Given the description of an element on the screen output the (x, y) to click on. 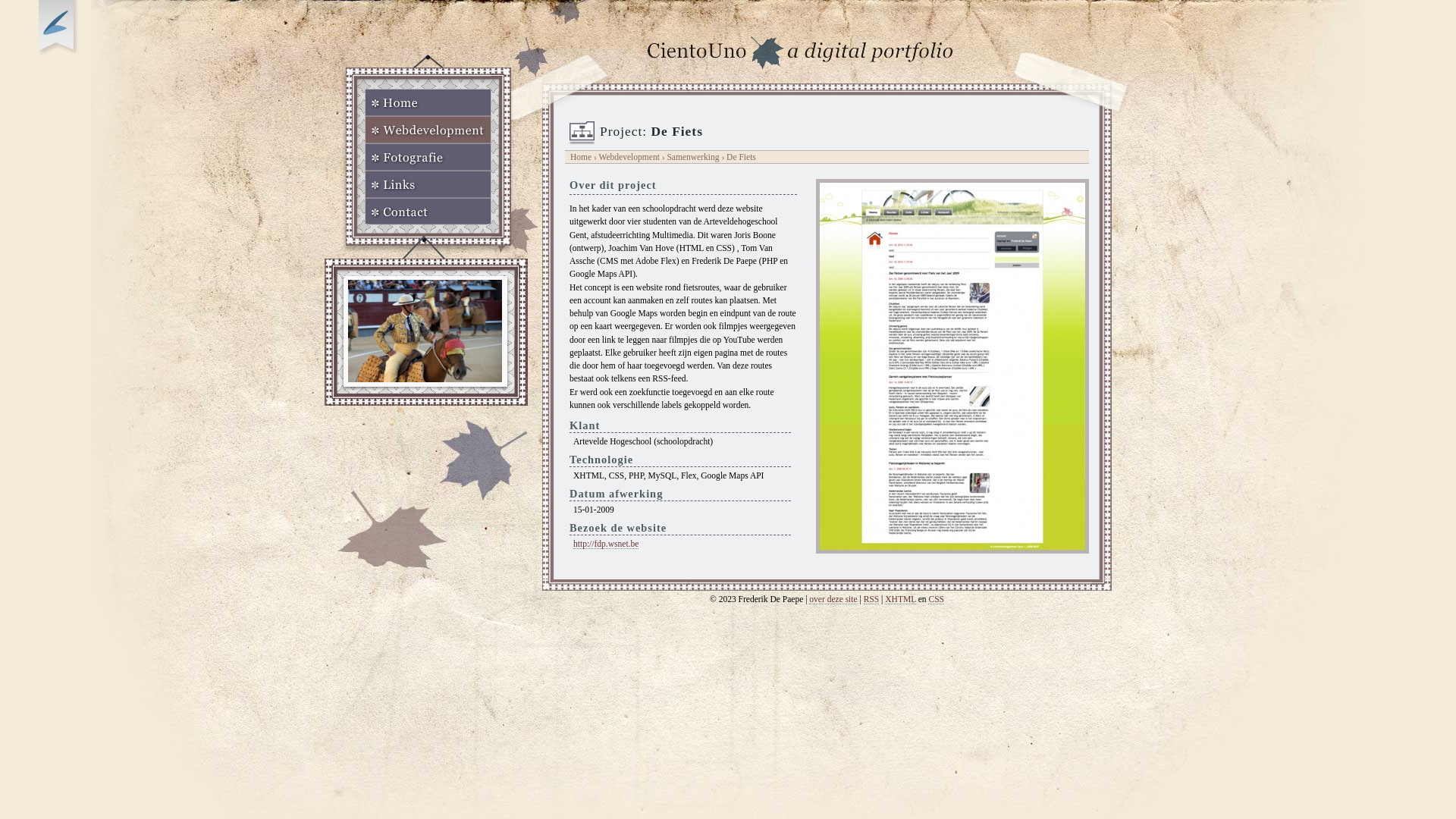
Webdevelopment Element type: text (427, 129)
Fotografie Element type: text (427, 156)
Op zoek naar Webkomeet? Element type: text (57, 28)
Links Element type: text (427, 183)
XHTML Element type: text (900, 599)
Webdevelopment Element type: text (629, 156)
CSS Element type: text (936, 599)
RSS Element type: text (871, 599)
Home Element type: text (580, 156)
Contact Element type: text (427, 211)
Home Element type: text (427, 102)
Samenwerking Element type: text (692, 156)
http://fdp.wsnet.be Element type: text (605, 544)
over deze site Element type: text (832, 599)
